Given the description of an element on the screen output the (x, y) to click on. 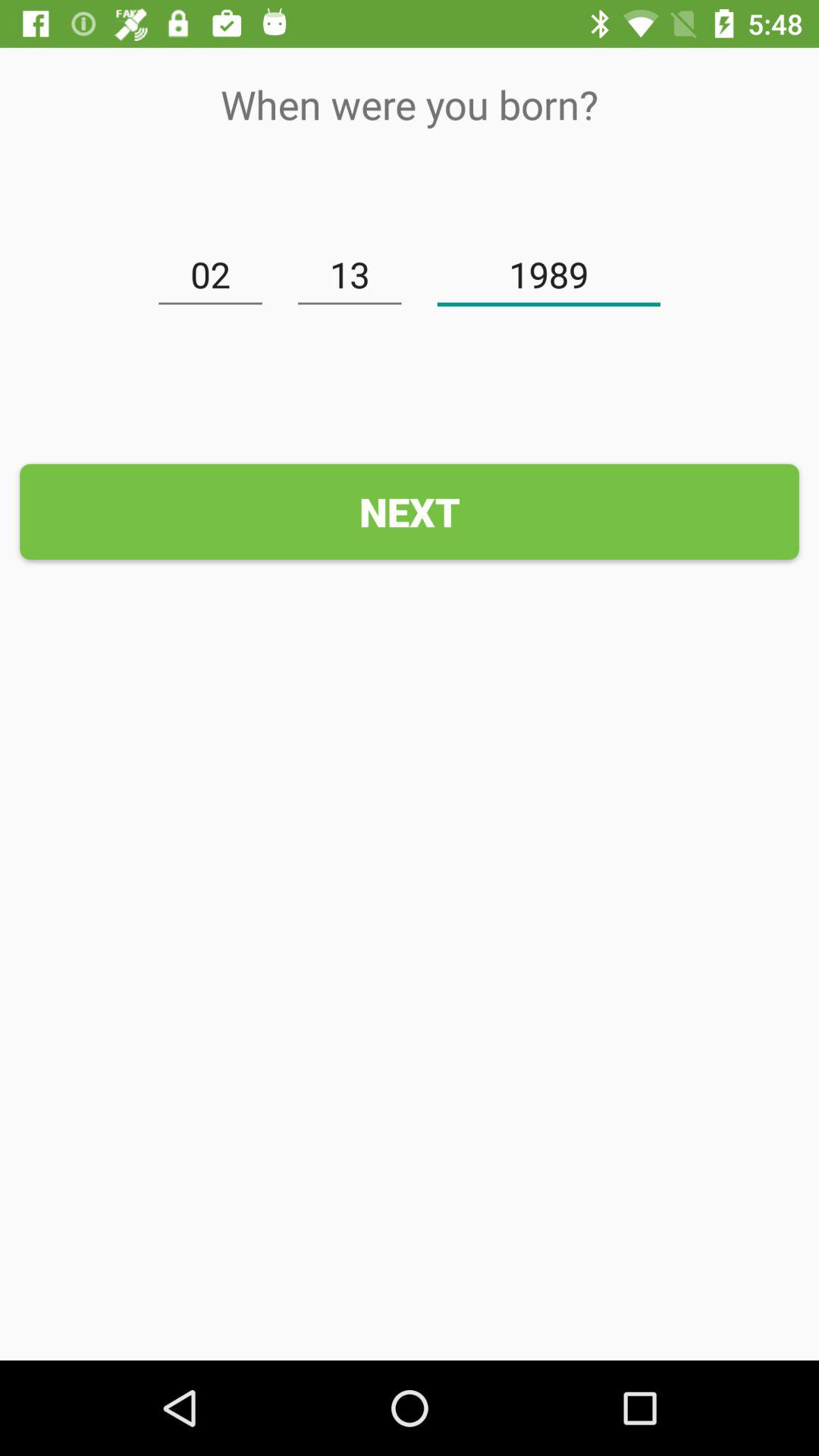
scroll to 1989 item (548, 275)
